Given the description of an element on the screen output the (x, y) to click on. 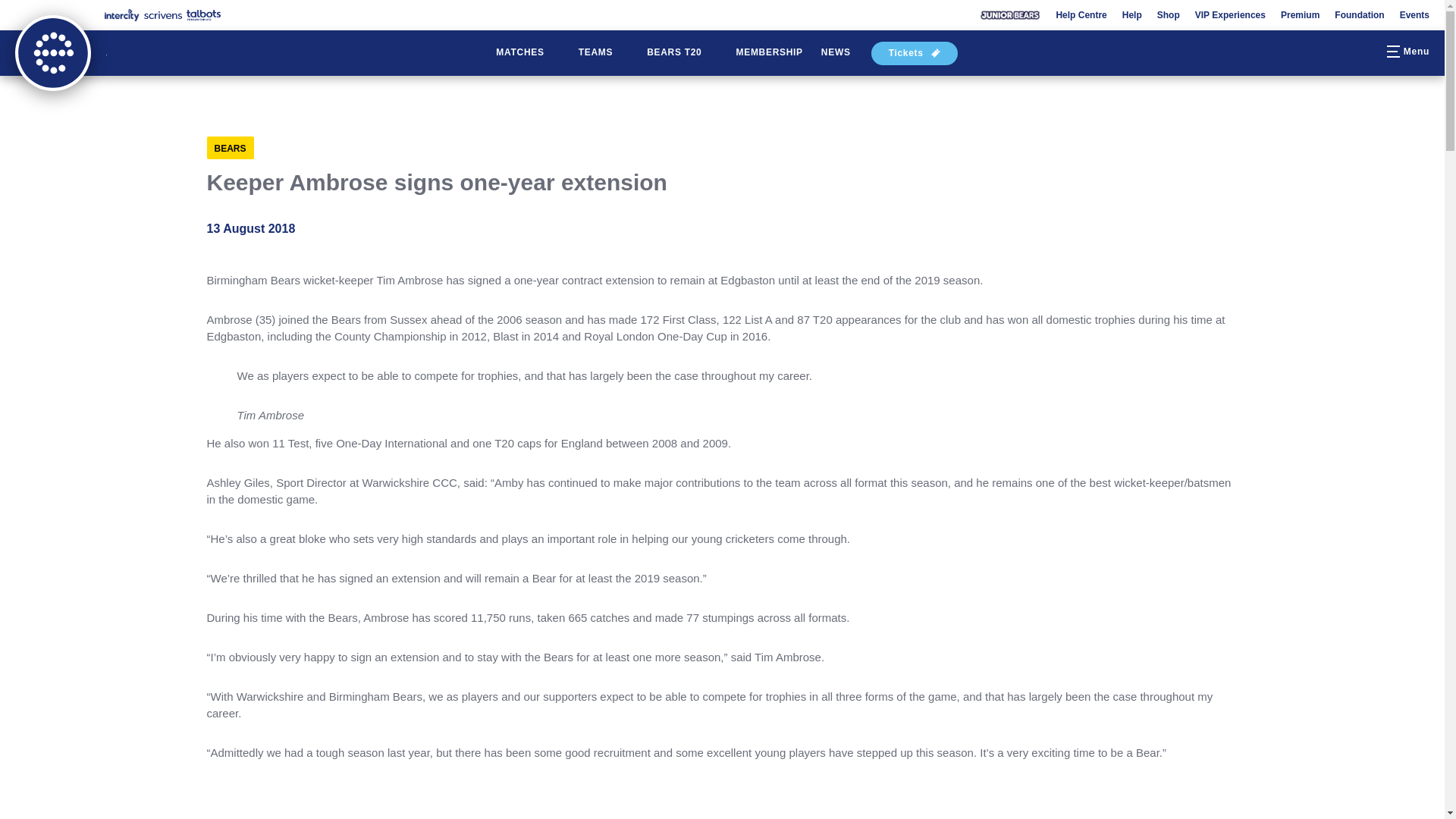
VIP Experiences (1230, 14)
TEAMS (604, 53)
BEARS T20 (681, 53)
Help (1131, 14)
Premium (1300, 14)
MEMBERSHIP (768, 53)
NEWS (836, 53)
Events (1414, 14)
Search (1358, 53)
Foundation (1359, 14)
Menu (1405, 53)
Help Centre (1080, 14)
Shop (1168, 14)
MATCHES (527, 53)
Tickets (914, 52)
